Given the description of an element on the screen output the (x, y) to click on. 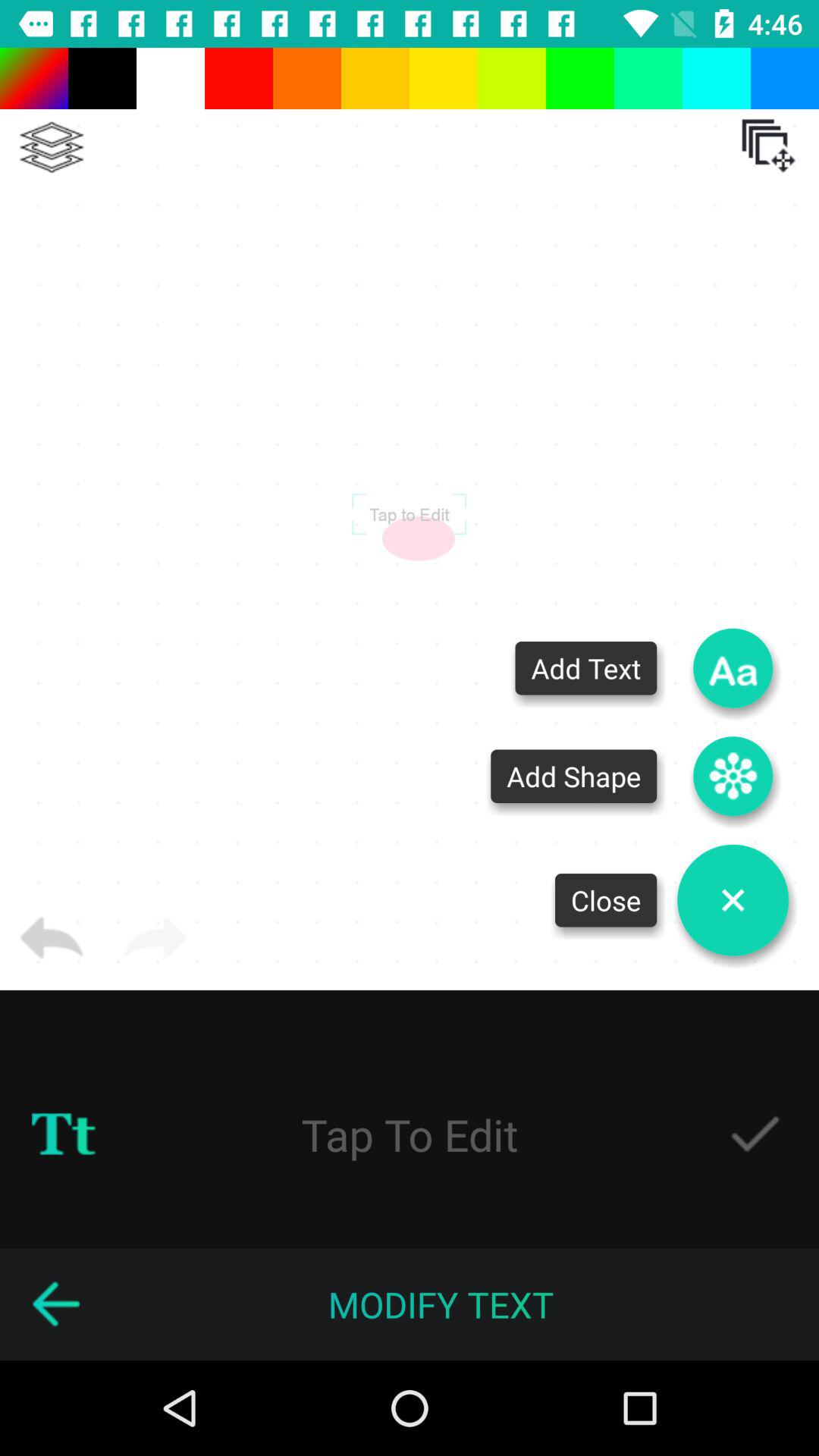
go back one screen (55, 1304)
